Given the description of an element on the screen output the (x, y) to click on. 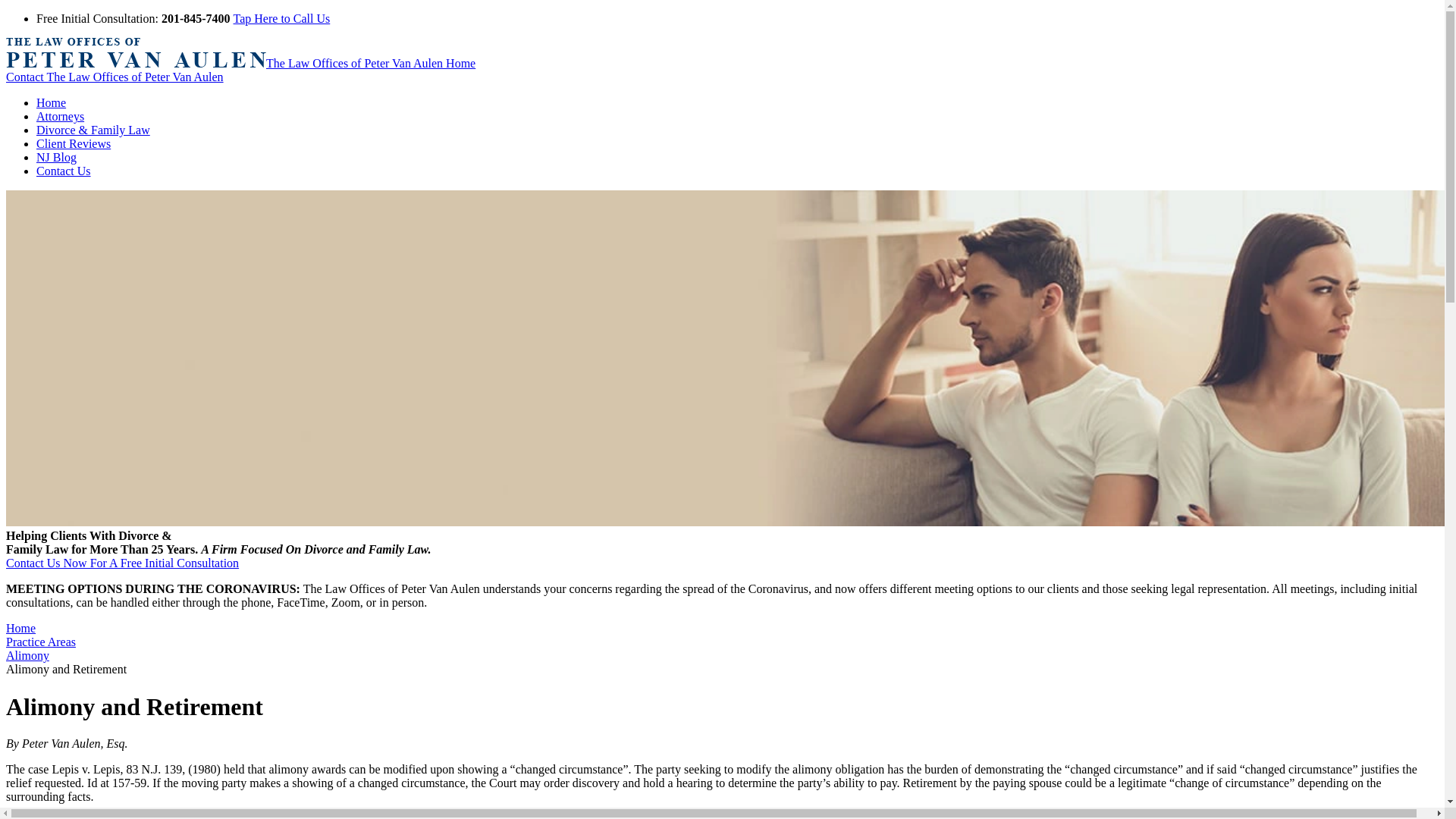
Practice Areas (40, 641)
Alimony (27, 655)
The Law Offices of Peter Van Aulen Home (240, 62)
Contact Us Now For A Free Initial Consultation (121, 562)
Client Reviews (73, 143)
Back to Home (240, 62)
NJ Blog (56, 156)
Attorneys (60, 115)
Home (50, 102)
Home (19, 627)
Tap Here to Call Us (281, 18)
Contact Us (63, 170)
Contact The Law Offices of Peter Van Aulen (114, 76)
